Given the description of an element on the screen output the (x, y) to click on. 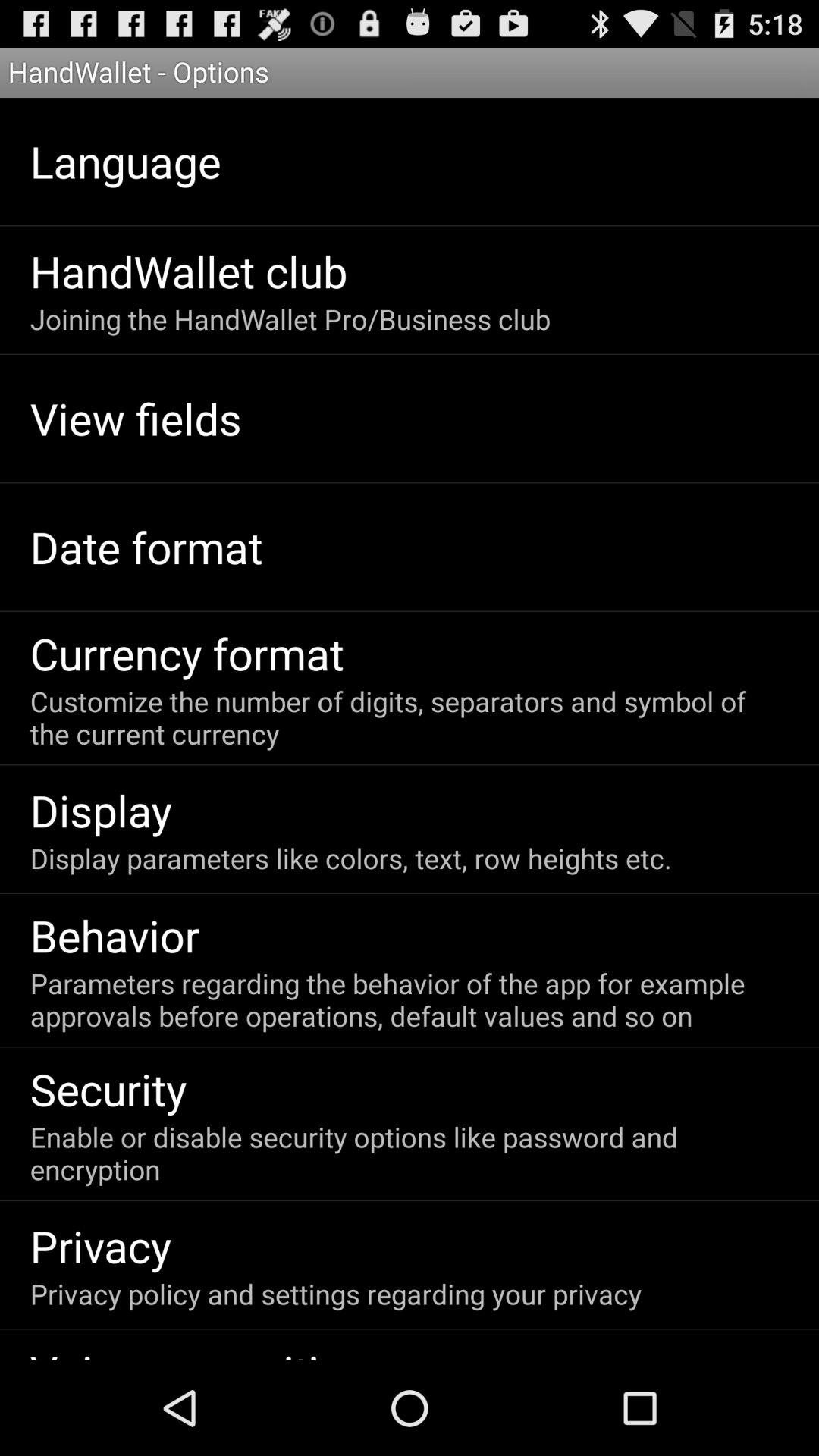
launch icon above behavior icon (350, 858)
